Given the description of an element on the screen output the (x, y) to click on. 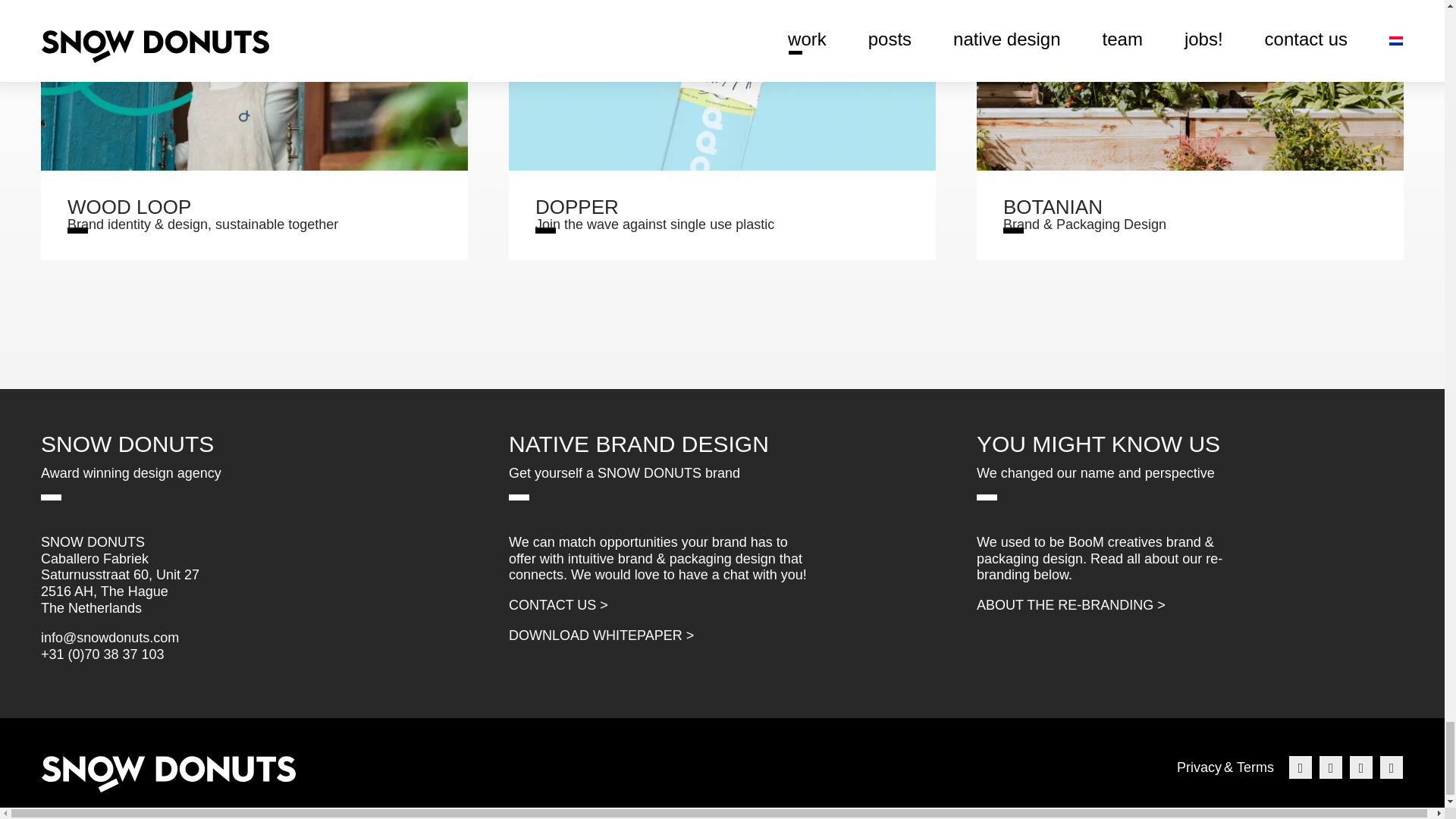
Saturnusstraat 60, Unit 27 (119, 574)
Terms (1255, 767)
Caballero Fabriek (94, 558)
2516 AH, The Hague (722, 129)
Privacy (104, 590)
BooM creatives (1198, 767)
